Given the description of an element on the screen output the (x, y) to click on. 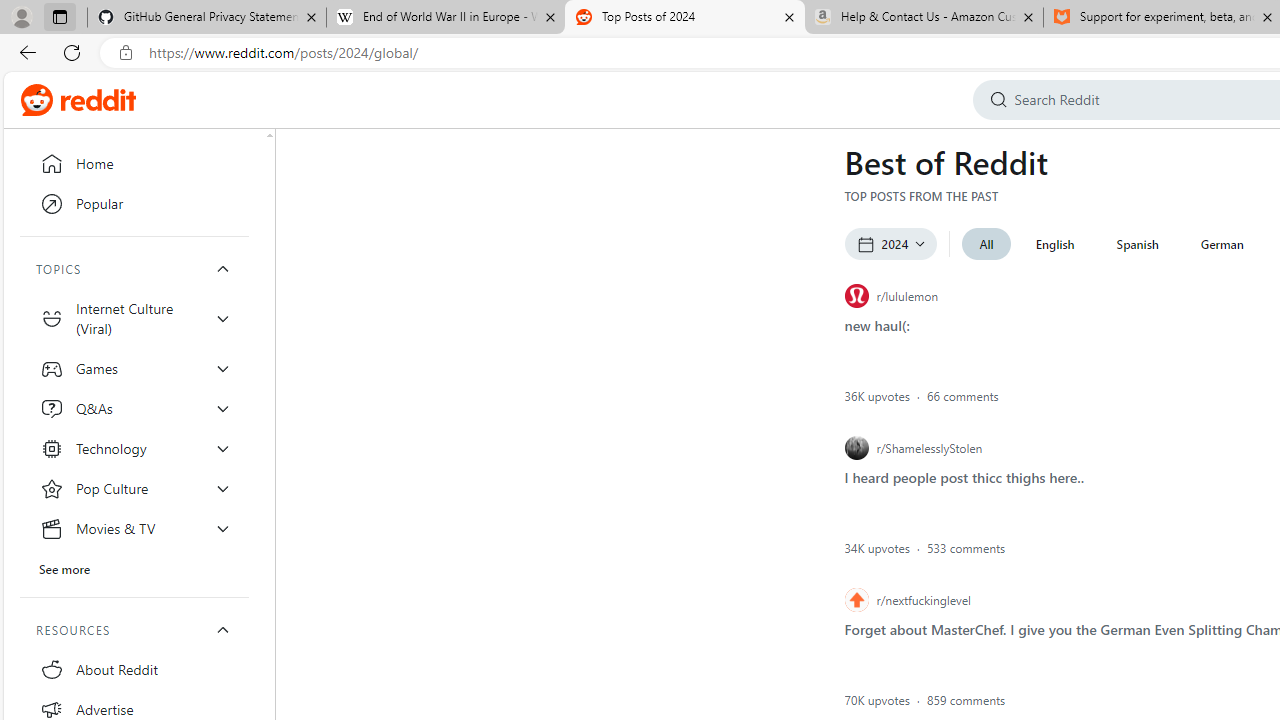
About Reddit (134, 669)
German (1221, 243)
List item post - new haul(:  (876, 323)
Q&As (134, 408)
Pop Culture (134, 488)
TOPICS (134, 268)
English (1054, 243)
2024 (890, 243)
Internet Culture (Viral) (134, 318)
List item post - I heard people post thicc thighs here..  (964, 475)
